Given the description of an element on the screen output the (x, y) to click on. 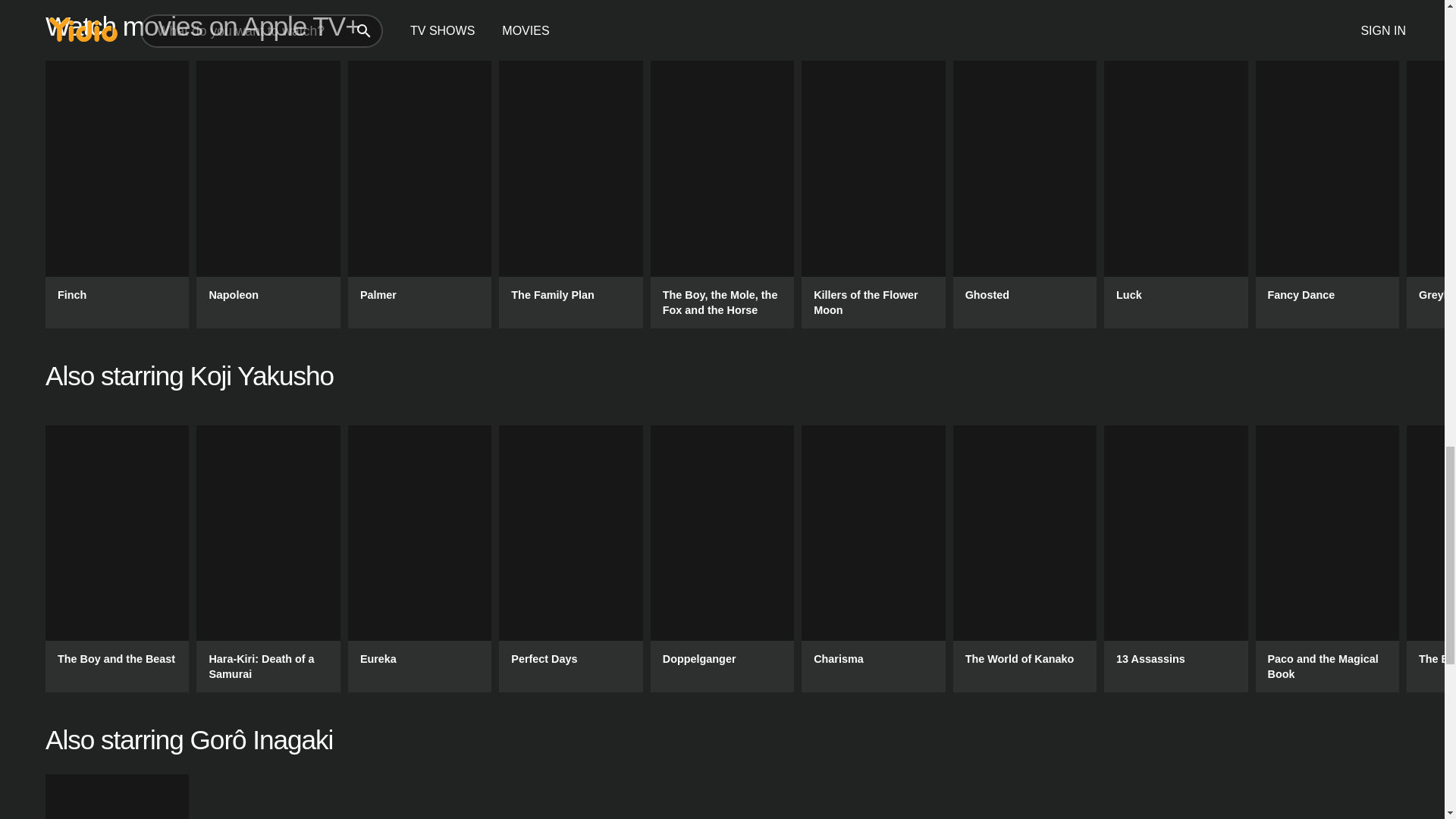
Fancy Dance (1327, 193)
Paco and the Magical Book (1327, 558)
Palmer (419, 193)
Doppelganger (721, 558)
The Boy, the Mole, the Fox and the Horse (721, 193)
Perfect Days (570, 558)
Luck (1175, 193)
The Boy and the Beast (117, 558)
13 Assassins (1175, 558)
The Family Plan (570, 193)
Killers of the Flower Moon (873, 193)
The World of Kanako (1024, 558)
Eureka (419, 558)
Finch (117, 193)
Ghosted (1024, 193)
